Given the description of an element on the screen output the (x, y) to click on. 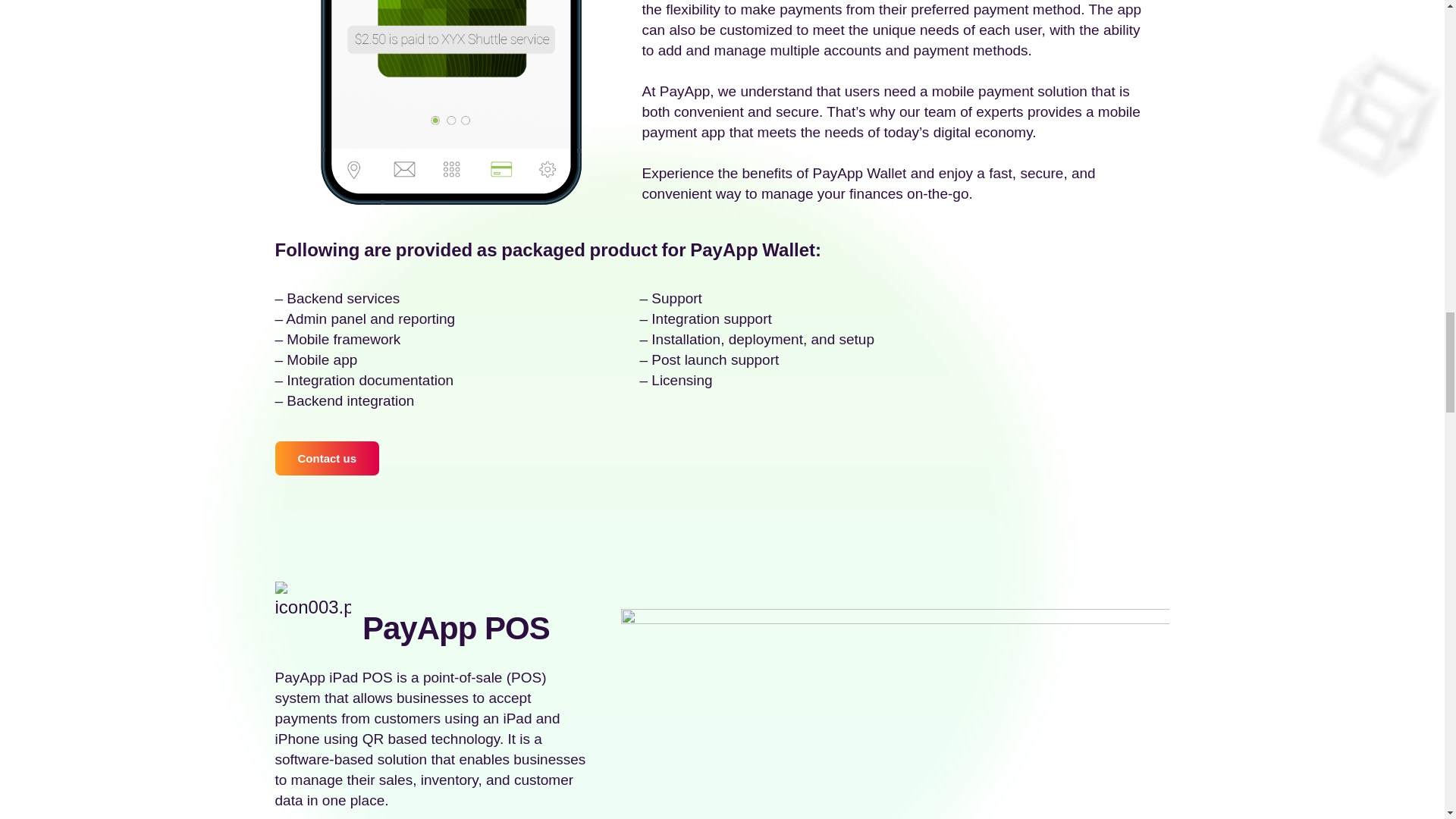
icon003.png (312, 600)
Contact us (326, 458)
